Given the description of an element on the screen output the (x, y) to click on. 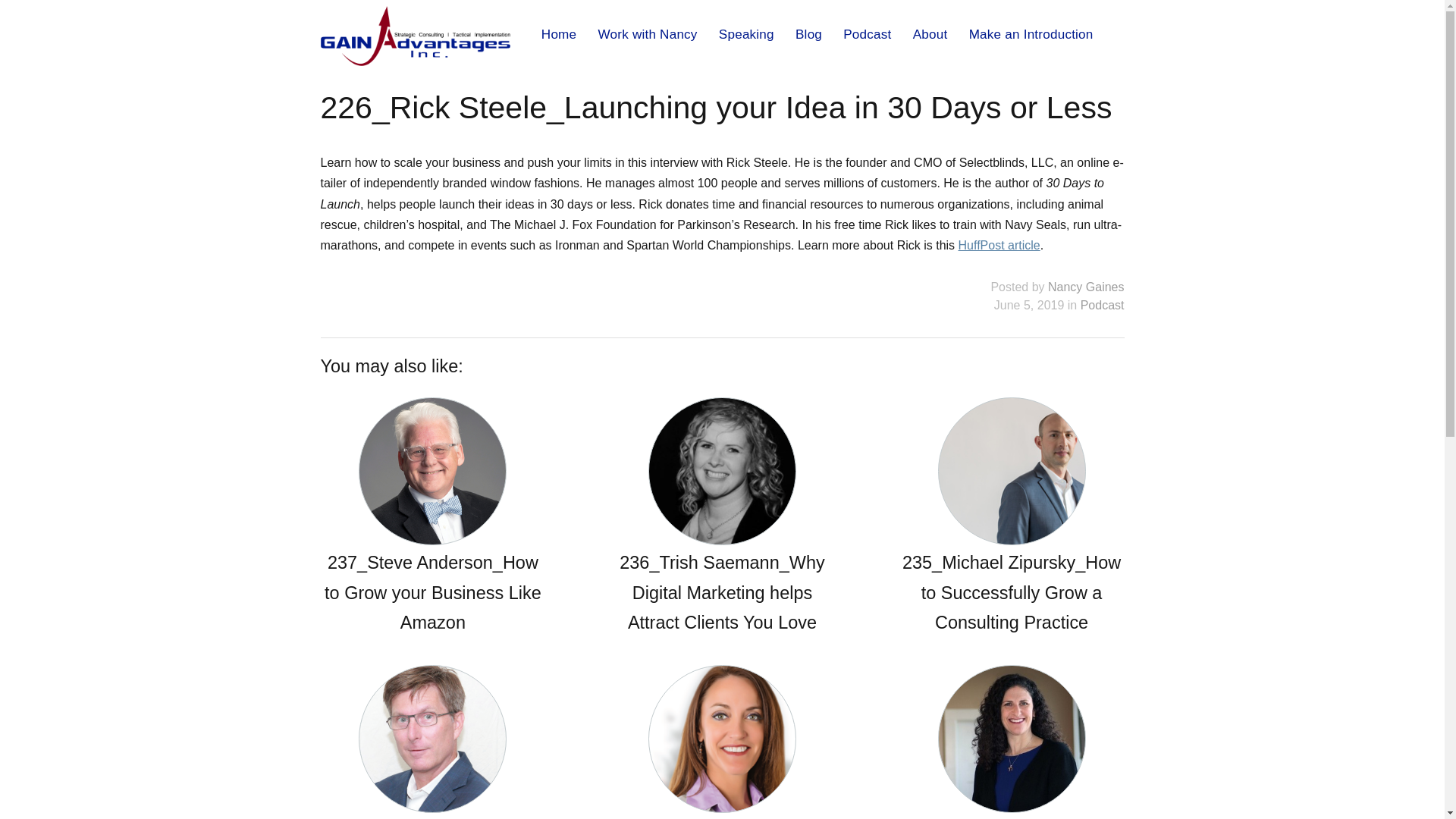
Blog (808, 33)
Work with Nancy (646, 33)
Podcast (866, 33)
About (930, 33)
Nancy Gaines (1086, 286)
Make an Introduction (1031, 33)
HuffPost article (999, 245)
Home (559, 33)
Podcast (1102, 305)
Speaking (746, 33)
